Given the description of an element on the screen output the (x, y) to click on. 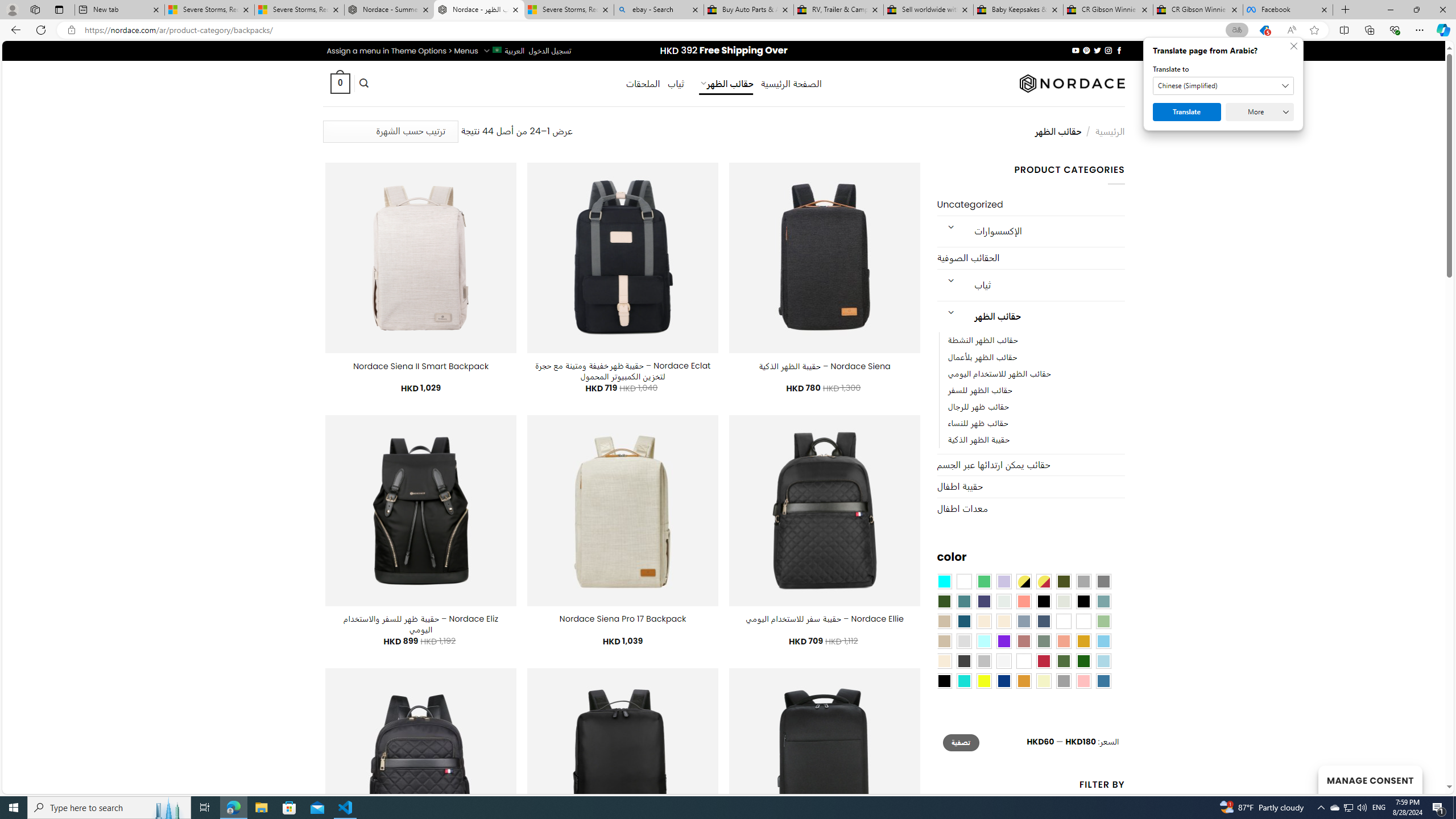
Cream (1003, 621)
Brownie (944, 621)
Ash Gray (1063, 601)
Uncategorized (1030, 204)
